Given the description of an element on the screen output the (x, y) to click on. 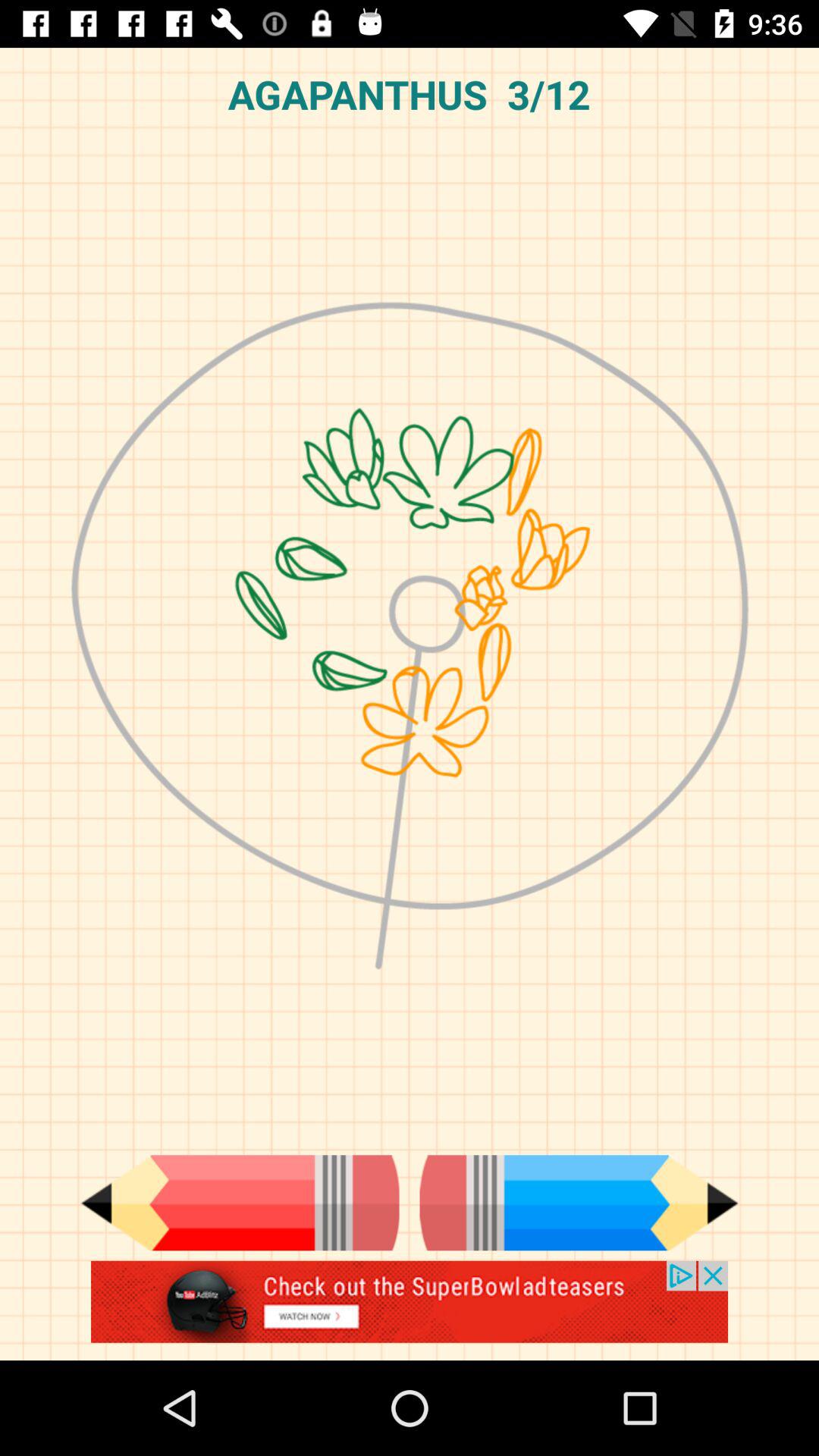
advertisement (409, 1310)
